Given the description of an element on the screen output the (x, y) to click on. 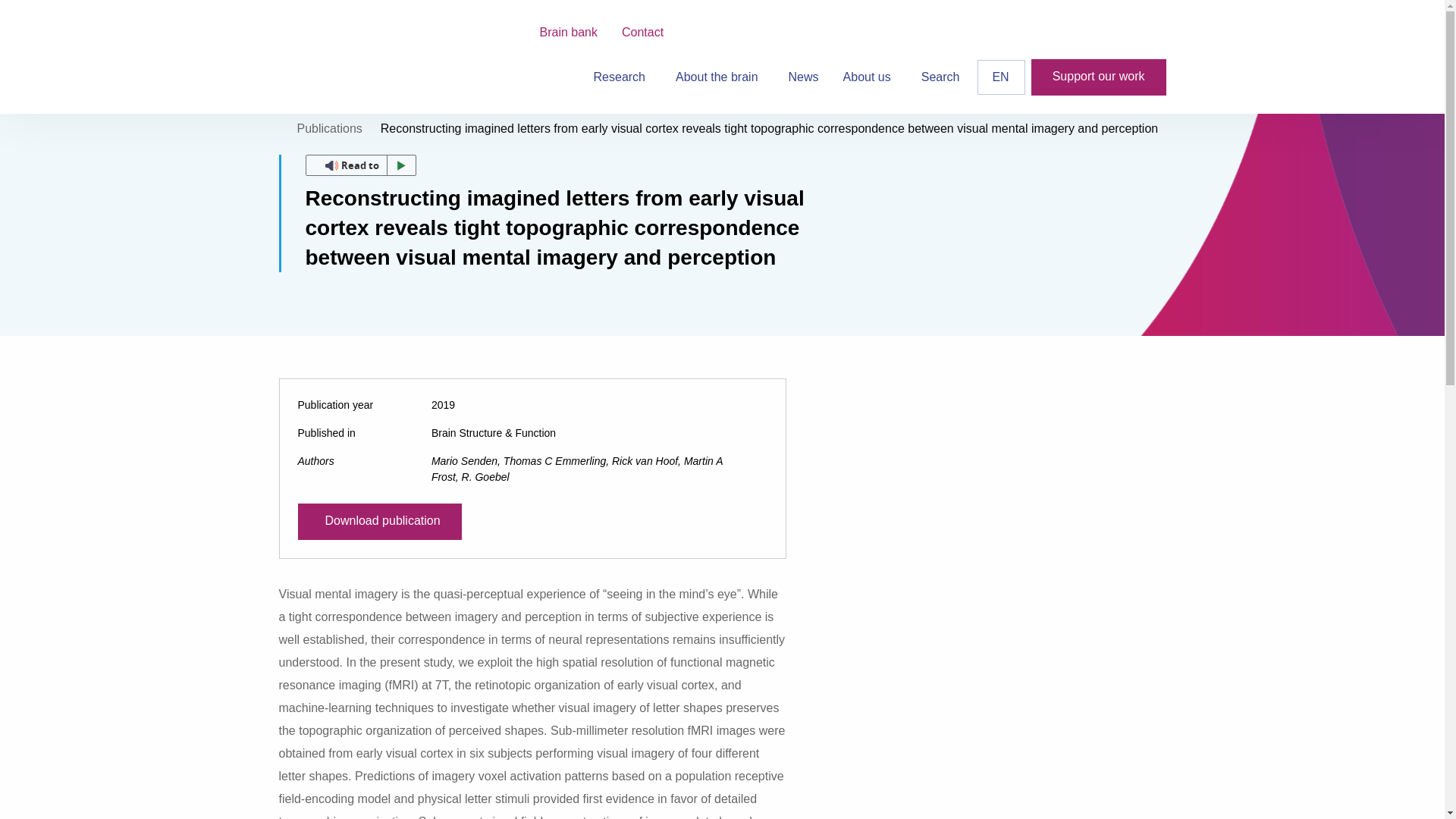
About the brain (719, 76)
Go to Publications. (329, 128)
Brain bank (568, 32)
About us (869, 76)
Publications (329, 128)
Contact (642, 32)
Laat de tekst voorlezen met ReadSpeaker webReader (359, 165)
News (803, 76)
Support our work (1098, 76)
Search (940, 76)
